Given the description of an element on the screen output the (x, y) to click on. 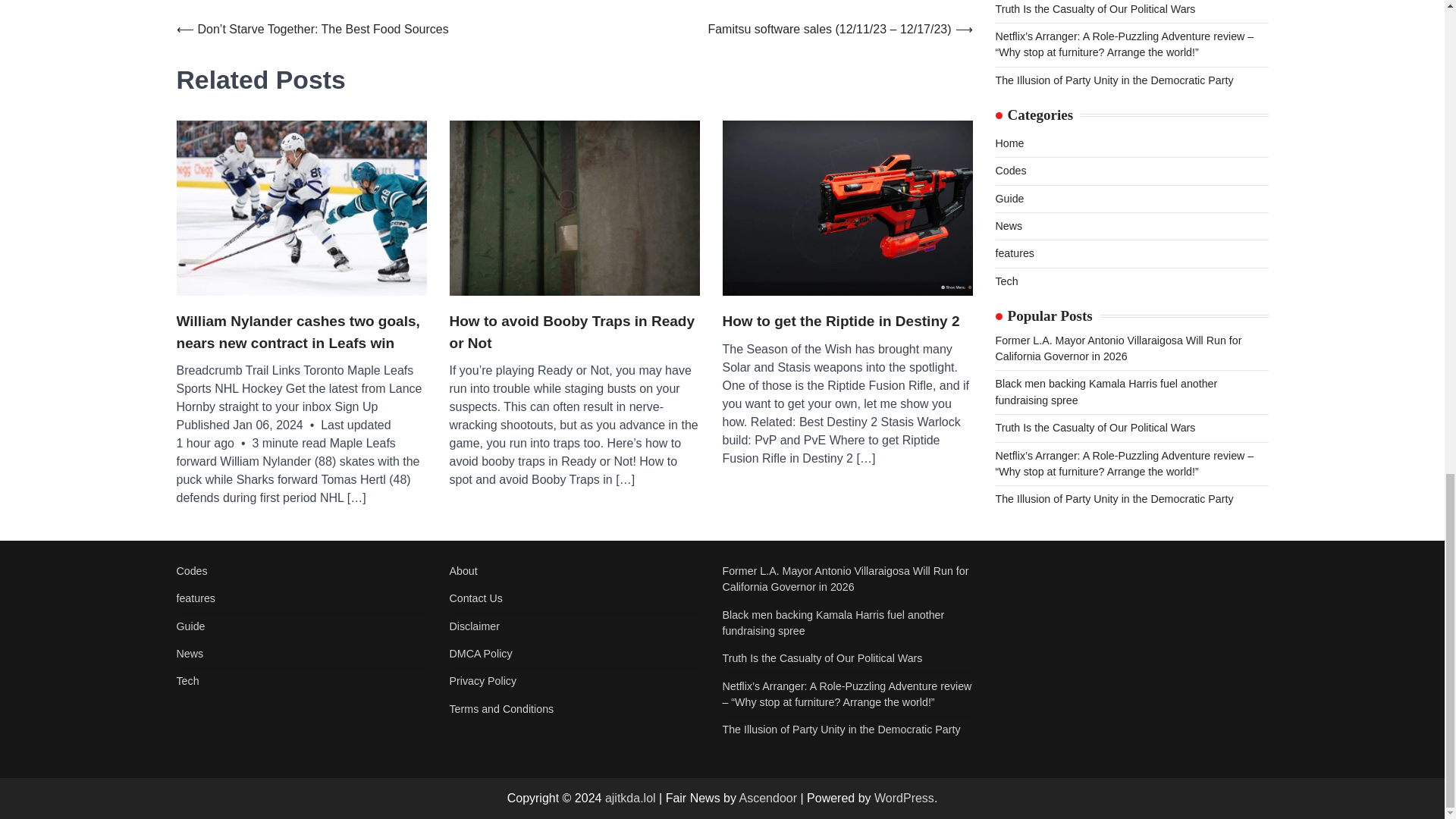
features (195, 598)
How to get the Riptide in Destiny 2 (840, 321)
How to avoid Booby Traps in Ready or Not (573, 332)
Guide (190, 625)
Codes (191, 571)
